Given the description of an element on the screen output the (x, y) to click on. 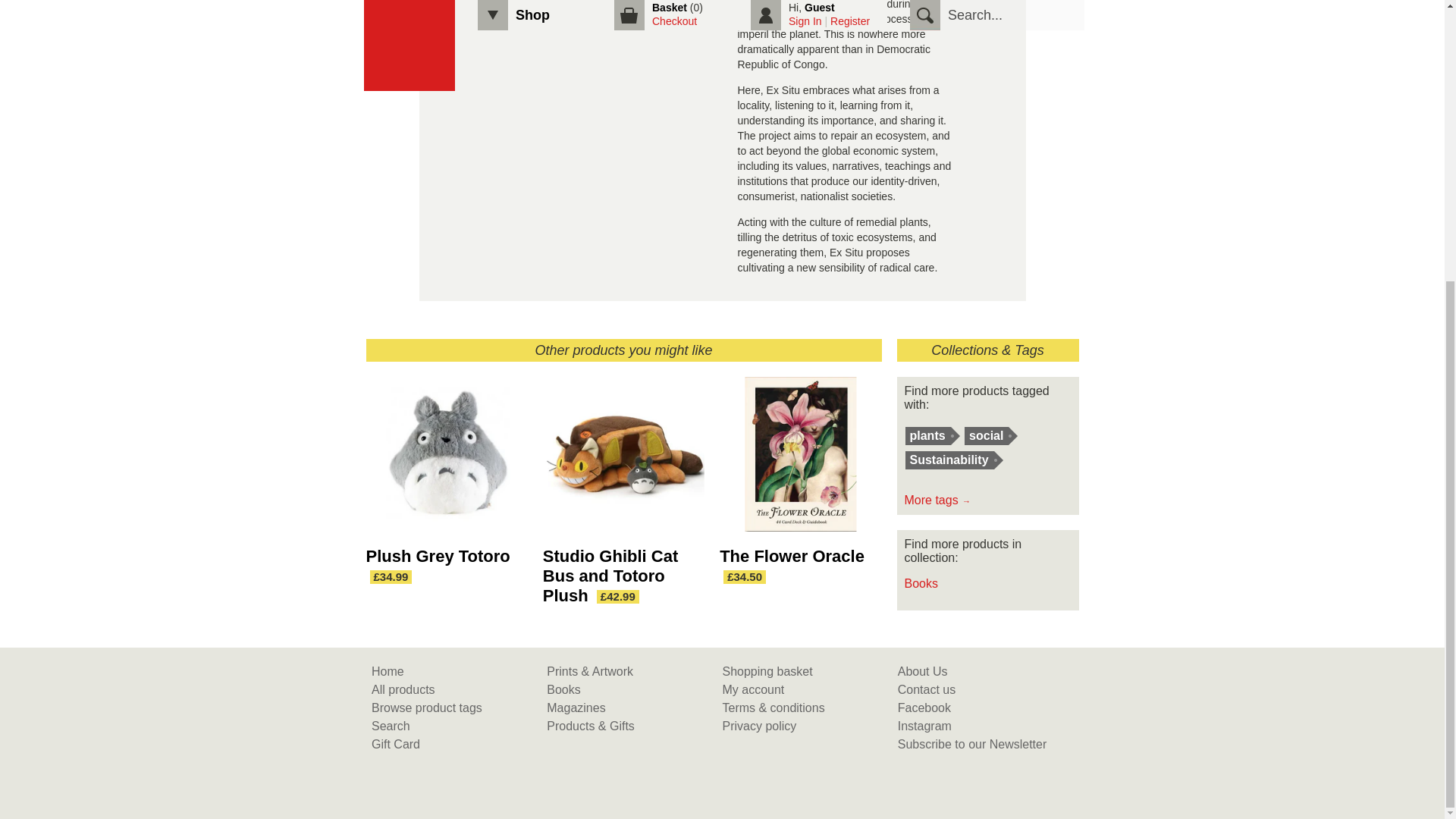
The Flower Oracle (791, 556)
Plush Grey Totoro (446, 461)
Sustainability (948, 460)
Books (920, 583)
Studio Ghibli Cat Bus and Totoro Plush (610, 576)
The Flower Oracle (799, 461)
plants (927, 435)
All products (403, 689)
Plush Grey Totoro (437, 556)
Studio Ghibli Cat Bus and Totoro Plush (623, 461)
The Flower Oracle (791, 556)
Studio Ghibli Cat Bus and Totoro Plush (610, 576)
social (985, 435)
Plush Grey Totoro (437, 556)
Home (387, 671)
